Given the description of an element on the screen output the (x, y) to click on. 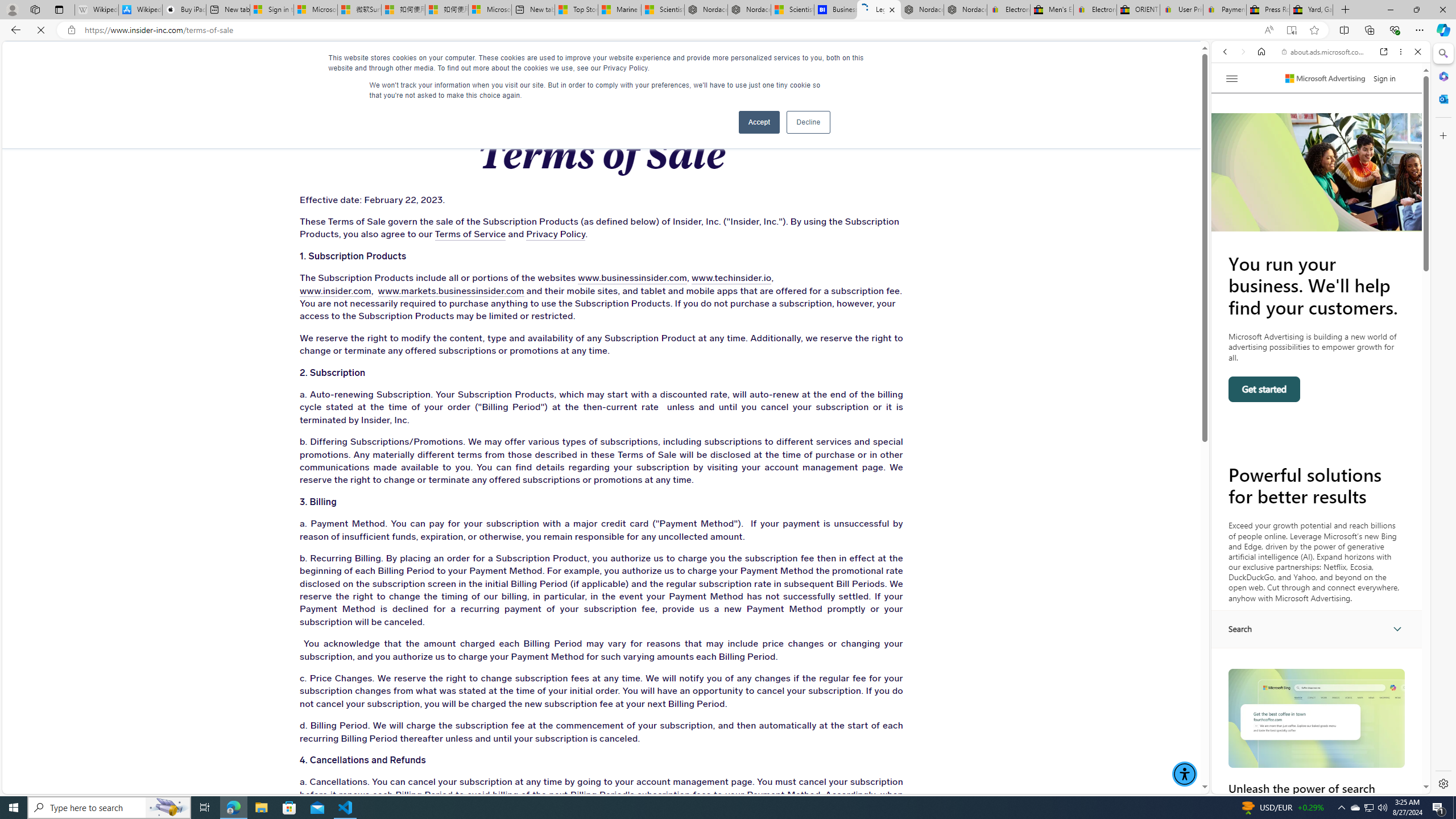
www.businessinsider.com (598, 278)
Privacy Policy (475, 234)
Get started (1264, 388)
